Given the description of an element on the screen output the (x, y) to click on. 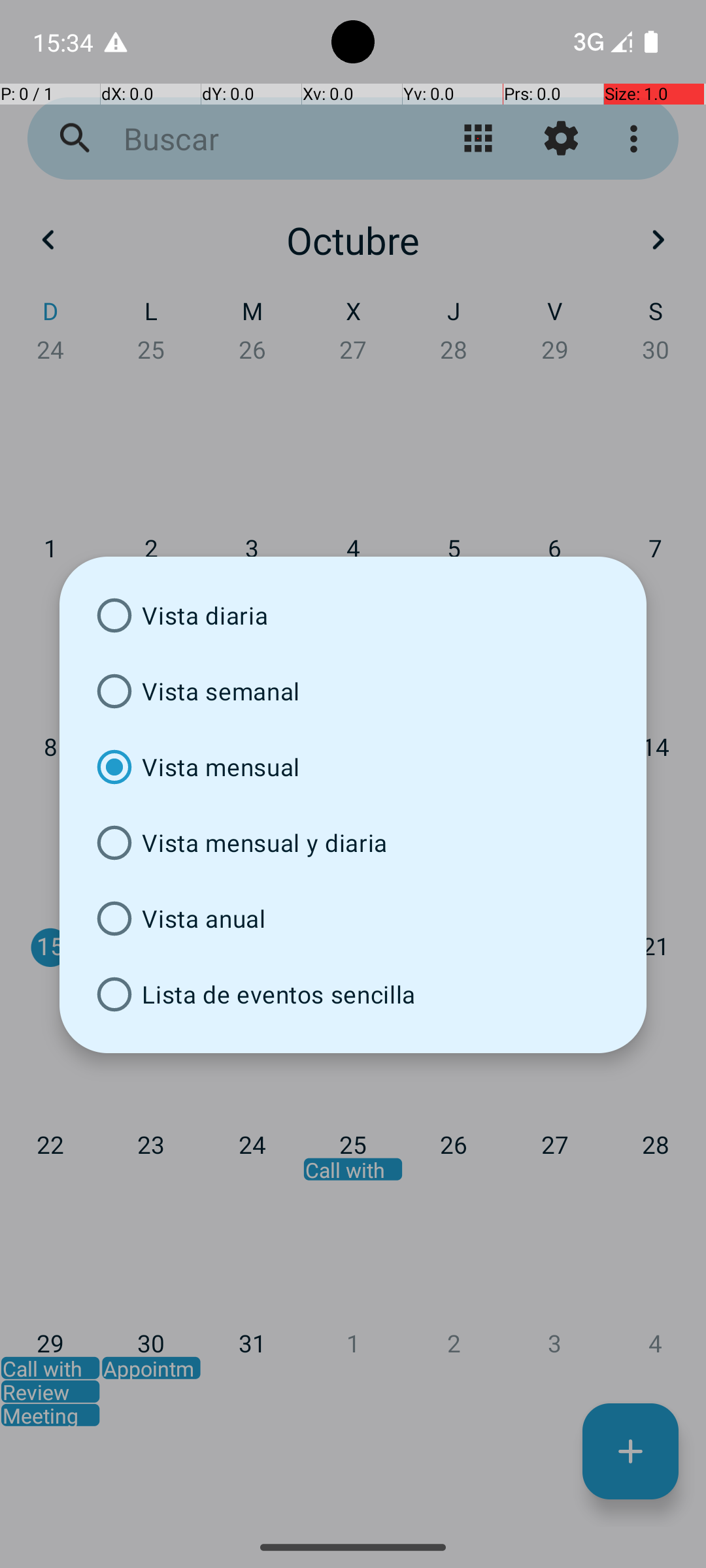
Vista diaria Element type: android.widget.RadioButton (352, 615)
Vista semanal Element type: android.widget.RadioButton (352, 691)
Vista mensual Element type: android.widget.RadioButton (352, 766)
Vista mensual y diaria Element type: android.widget.RadioButton (352, 842)
Vista anual Element type: android.widget.RadioButton (352, 918)
Lista de eventos sencilla Element type: android.widget.RadioButton (352, 994)
